Given the description of an element on the screen output the (x, y) to click on. 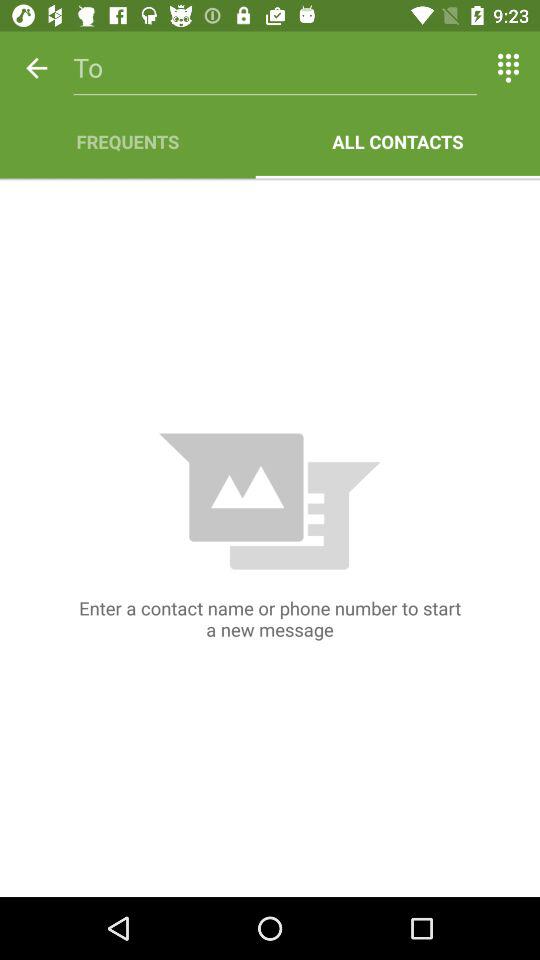
launch the frequents (127, 141)
